Given the description of an element on the screen output the (x, y) to click on. 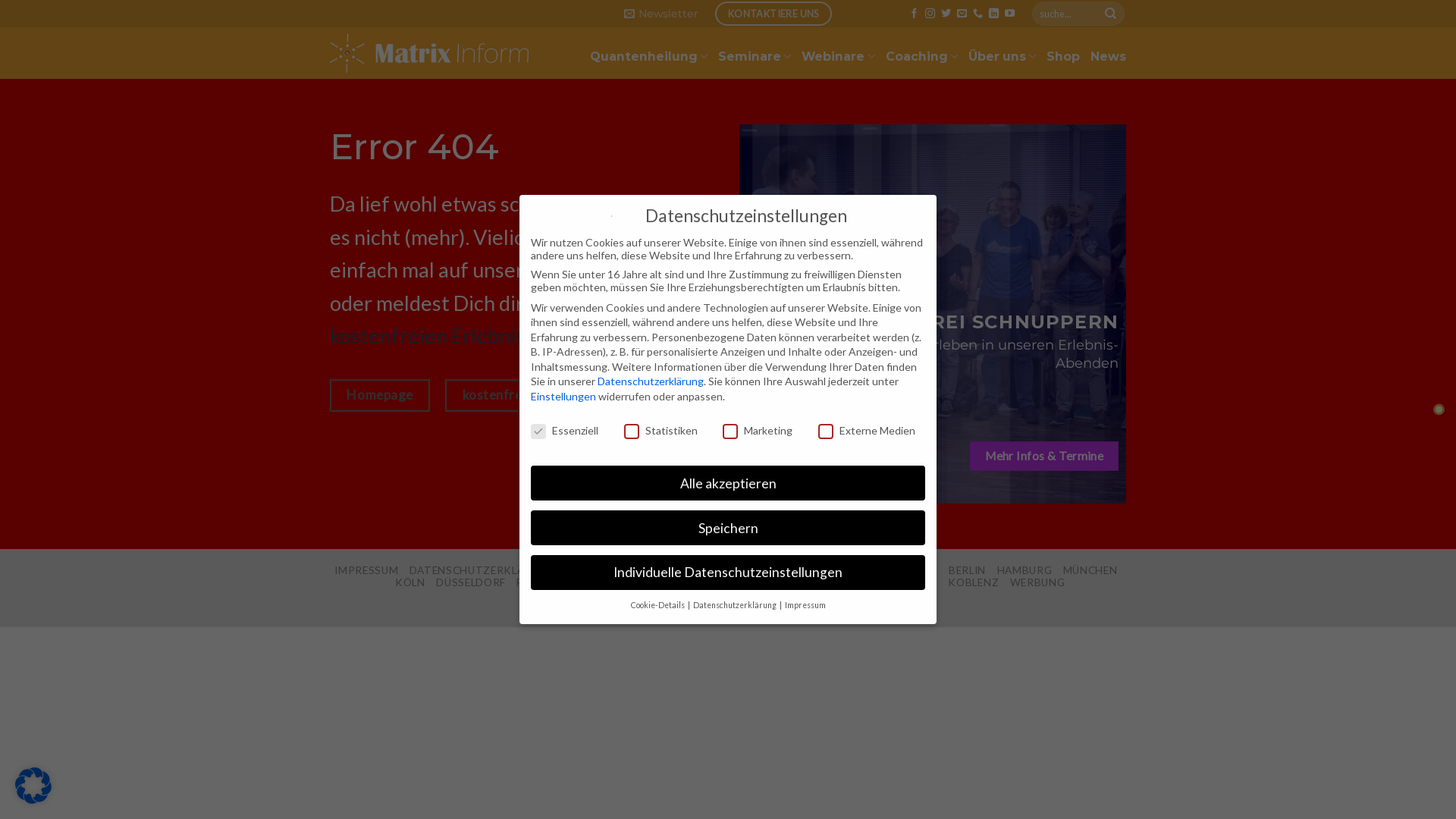
IMPRESSUM Element type: text (366, 570)
LANDAU Element type: text (915, 582)
FRANKFURT AM MAIN Element type: text (574, 582)
Cookie-Details Element type: text (658, 604)
Auf Linkedin folgen Element type: hover (993, 13)
Shop Element type: text (1062, 56)
HAMBURG Element type: text (1024, 570)
Coaching Element type: text (921, 56)
Auf Twitter folgen Element type: hover (945, 13)
WERBUNG Element type: text (1037, 582)
Auf Facebook folgen Element type: hover (914, 13)
MATRIX-INFORM MARKE Element type: text (747, 570)
kostenfreie Erlebnis-Abende Element type: text (548, 395)
Speichern Element type: text (727, 527)
Alle akzeptieren Element type: text (727, 482)
Individuelle Datenschutzeinstellungen Element type: text (727, 572)
BASEL Element type: text (787, 582)
Seminare Element type: text (754, 56)
Webinare Element type: text (837, 56)
AGB Element type: text (577, 570)
KOBLENZ Element type: text (972, 582)
Homepage Element type: text (596, 269)
Newsletter Element type: text (661, 13)
Change this Element type: hover (1438, 408)
News Element type: text (1108, 56)
NEWSLETTER Element type: text (635, 570)
Rufe uns an Element type: hover (977, 13)
KONTAKTIERE UNS Element type: text (773, 13)
Zum Inhalt springen Element type: text (0, 0)
Impressum Element type: text (804, 604)
BERLIN Element type: text (966, 570)
Quantenheilung Element type: text (648, 56)
Einstellungen Element type: text (563, 395)
kostenfreien Erlebnis-Abende Element type: text (465, 335)
Mehr Infos & Termine Element type: text (1043, 455)
HEIDELBERG Element type: text (676, 582)
Homepage Element type: text (379, 395)
BERN Element type: text (829, 582)
Sende uns eine E-Mail Element type: hover (961, 13)
Auf Instagram folgen Element type: hover (930, 13)
URHEBER DER BILDER Element type: text (880, 570)
Auf YouTube folgen Element type: hover (1009, 13)
WIEN Element type: text (868, 582)
